Given the description of an element on the screen output the (x, y) to click on. 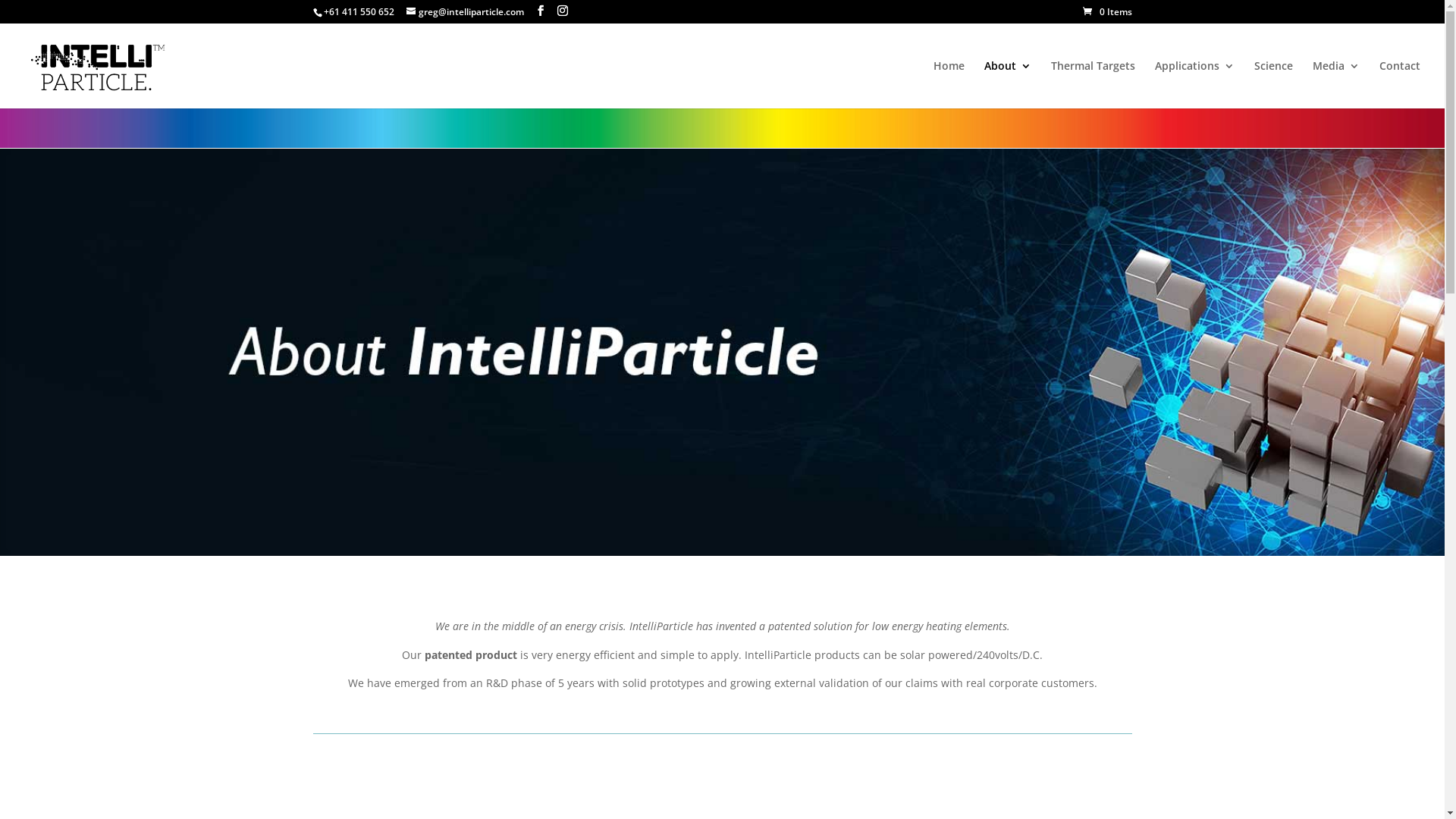
Science Element type: text (1273, 84)
Home Element type: text (948, 84)
greg@intelliparticle.com Element type: text (465, 11)
Contact Element type: text (1399, 84)
Media Element type: text (1335, 84)
About Element type: text (1007, 84)
Thermal Targets Element type: text (1093, 84)
Applications Element type: text (1194, 84)
0 Items Element type: text (1107, 11)
